Given the description of an element on the screen output the (x, y) to click on. 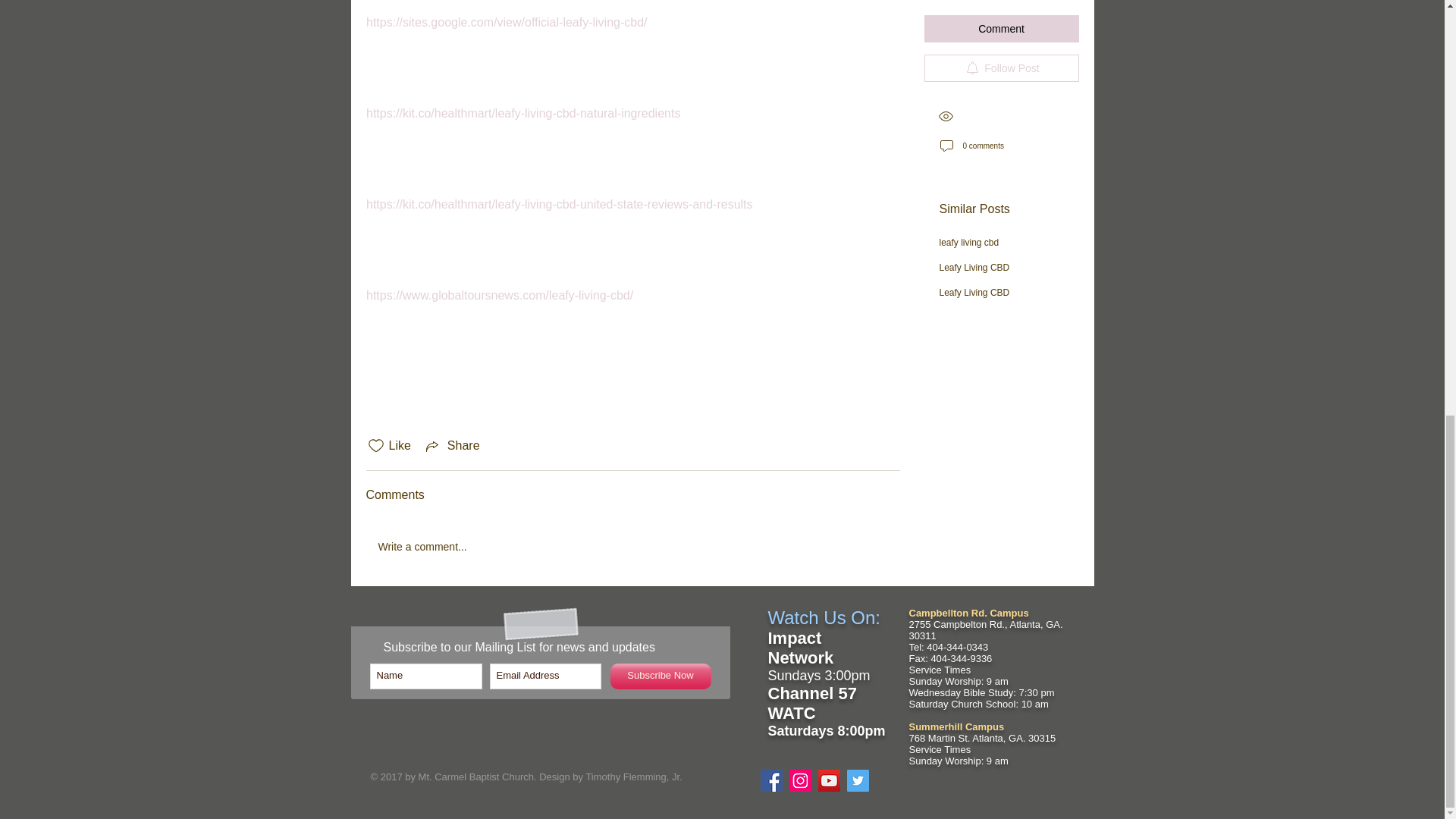
Write a comment... (632, 546)
Subscribe Now (660, 676)
Share (451, 445)
